Given the description of an element on the screen output the (x, y) to click on. 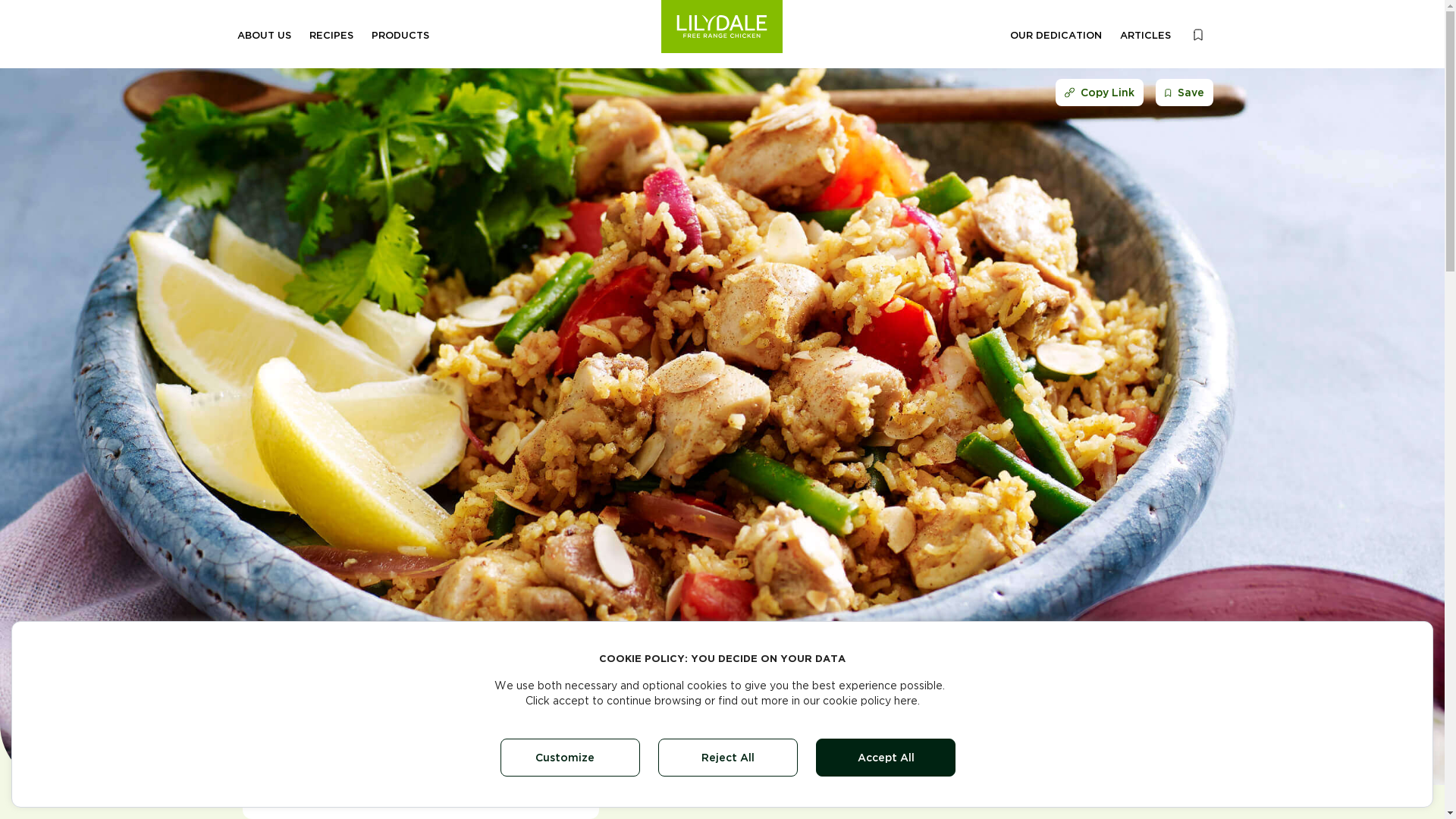
Accept All Element type: text (885, 757)
Reject All Element type: text (727, 757)
OUR DEDICATION Element type: text (1055, 35)
Customize Element type: text (570, 757)
RECIPES Element type: text (331, 35)
PRODUCTS Element type: text (400, 35)
ABOUT US Element type: text (263, 35)
ARTICLES Element type: text (1145, 35)
